Given the description of an element on the screen output the (x, y) to click on. 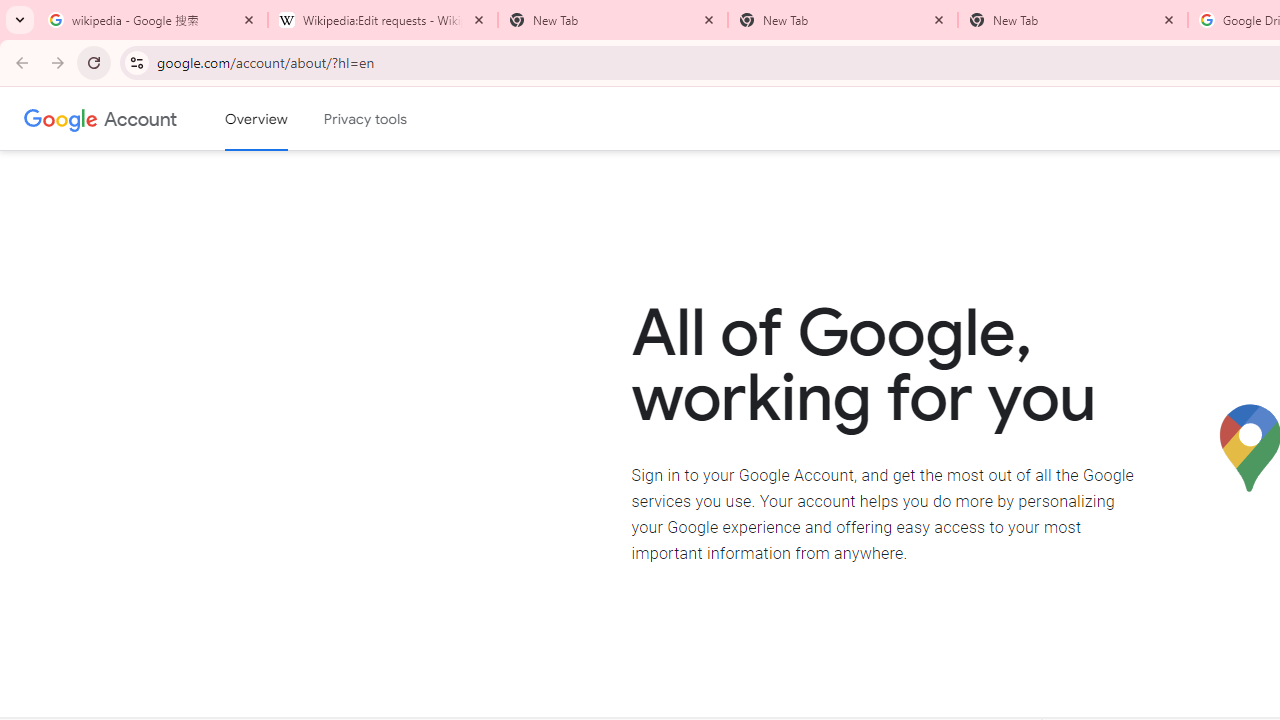
New Tab (1072, 20)
Skip to Content (285, 115)
Google Account (140, 118)
Wikipedia:Edit requests - Wikipedia (382, 20)
Google Account overview (256, 119)
New Tab (842, 20)
Google logo (61, 118)
